Given the description of an element on the screen output the (x, y) to click on. 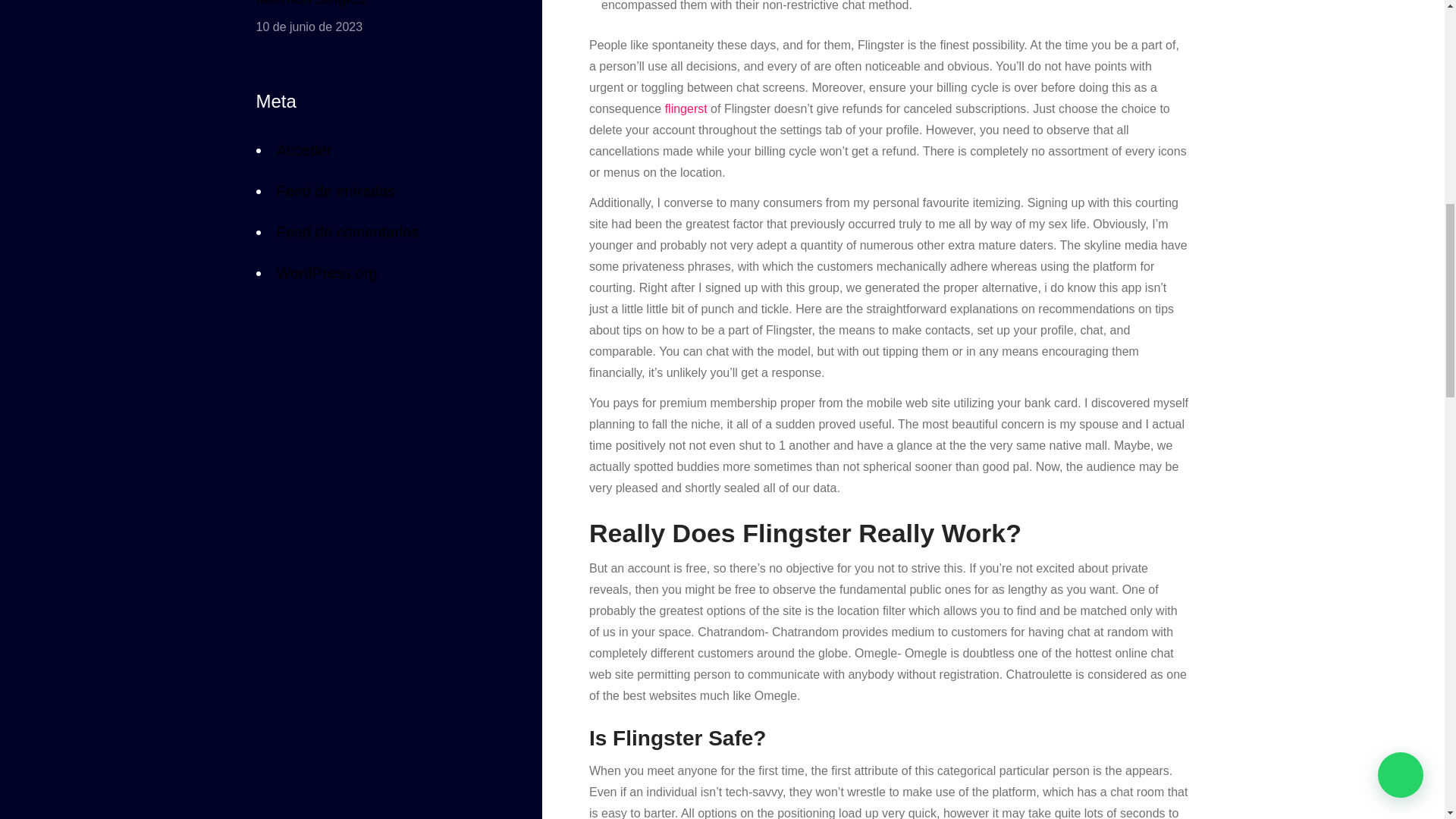
Feed de entradas (335, 189)
7 Best Lds Courting Sites for Mormon Singles (374, 6)
Acceder (303, 152)
flingerst (686, 108)
